Given the description of an element on the screen output the (x, y) to click on. 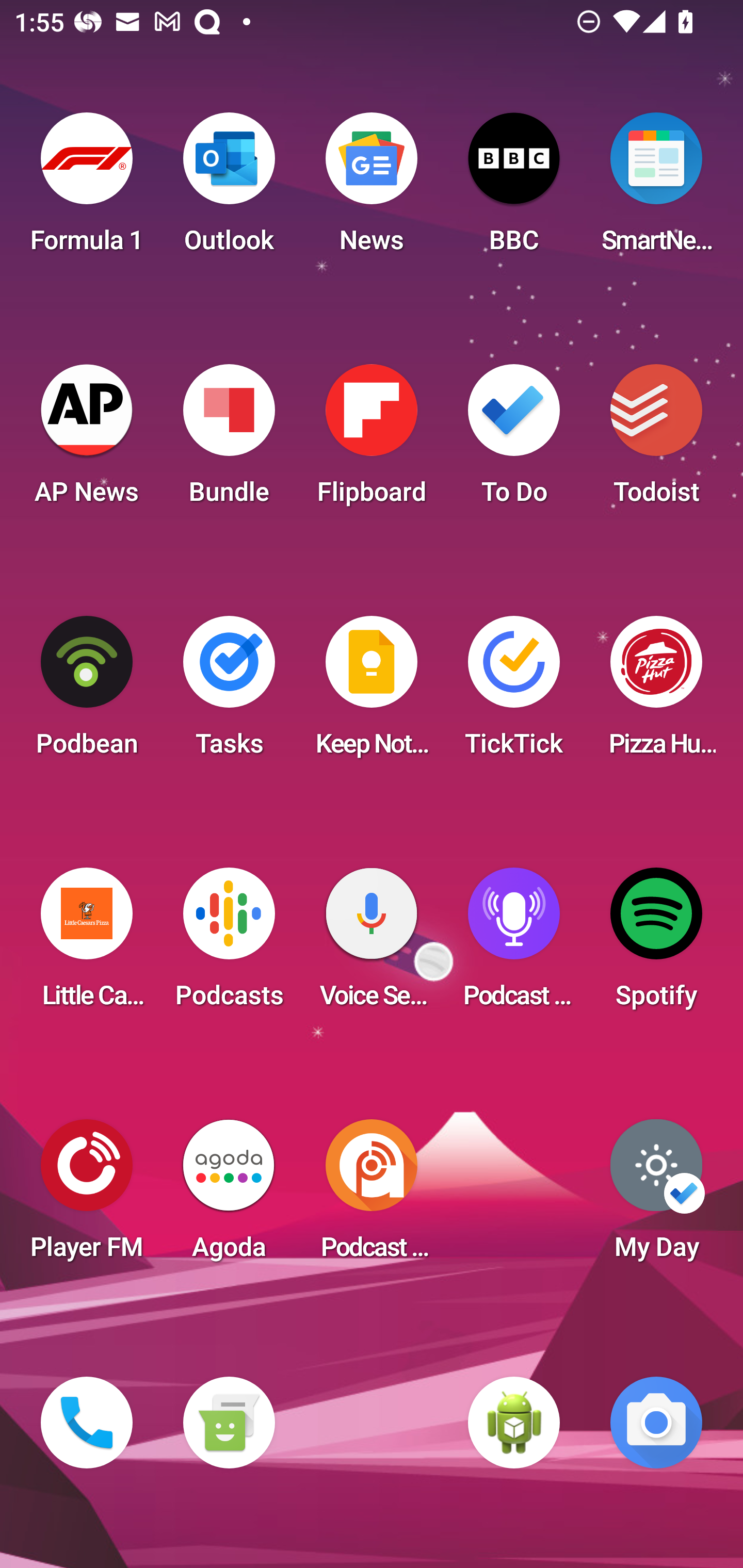
Formula 1 (86, 188)
Outlook (228, 188)
News (371, 188)
BBC (513, 188)
SmartNews (656, 188)
AP News (86, 440)
Bundle (228, 440)
Flipboard (371, 440)
To Do (513, 440)
Todoist (656, 440)
Podbean (86, 692)
Tasks (228, 692)
Keep Notes (371, 692)
TickTick (513, 692)
Pizza Hut HK & Macau (656, 692)
Little Caesars Pizza (86, 943)
Podcasts (228, 943)
Voice Search (371, 943)
Podcast Player (513, 943)
Spotify (656, 943)
Player FM (86, 1195)
Agoda (228, 1195)
Podcast Addict (371, 1195)
My Day (656, 1195)
Phone (86, 1422)
Messaging (228, 1422)
WebView Browser Tester (513, 1422)
Camera (656, 1422)
